Given the description of an element on the screen output the (x, y) to click on. 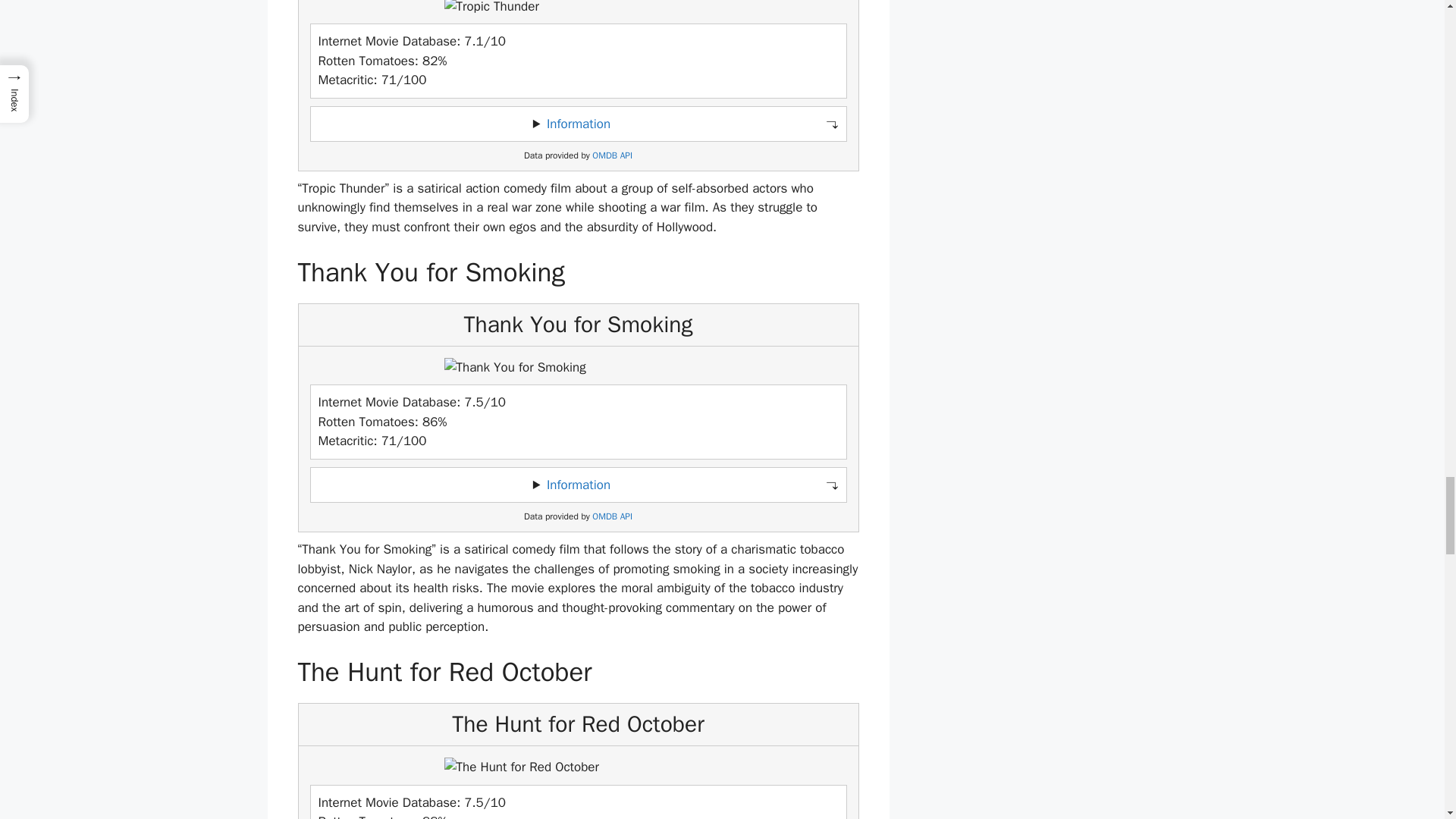
Information (578, 123)
OMDB API (611, 516)
Information (578, 484)
OMDB API (611, 155)
